Given the description of an element on the screen output the (x, y) to click on. 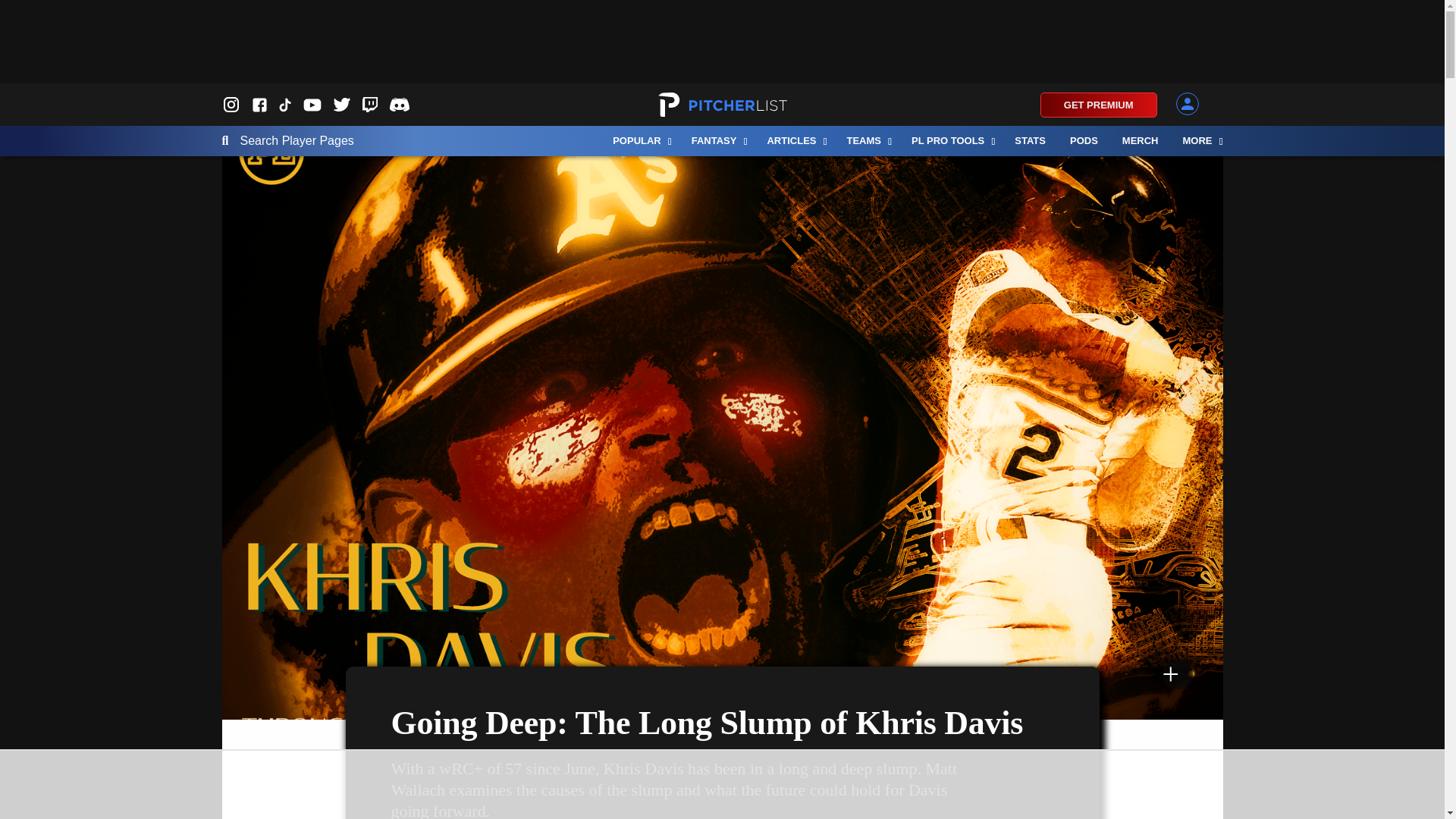
FANTASY (717, 141)
GET PREMIUM (1099, 104)
